Given the description of an element on the screen output the (x, y) to click on. 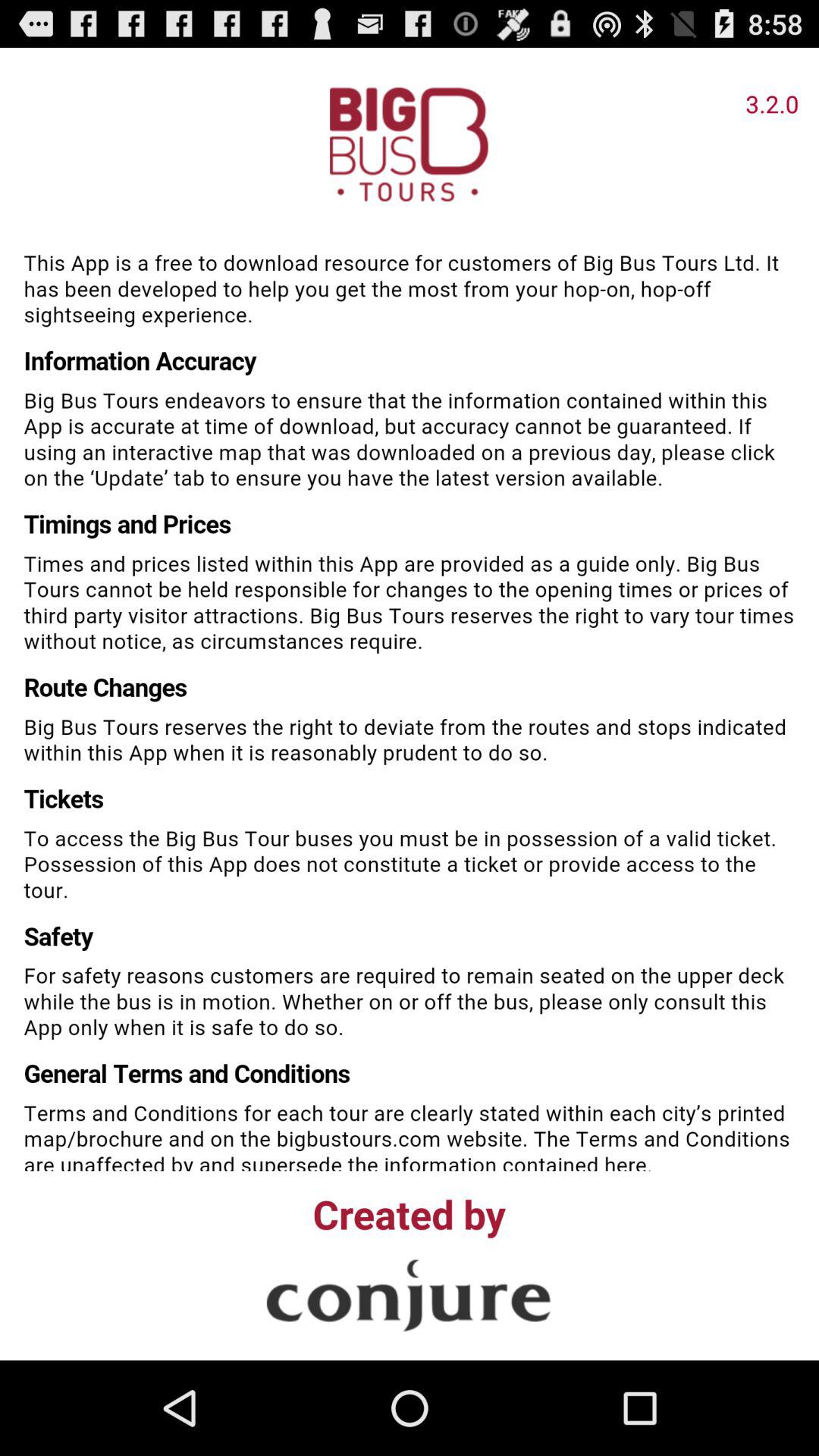
click conjure (408, 1295)
